Given the description of an element on the screen output the (x, y) to click on. 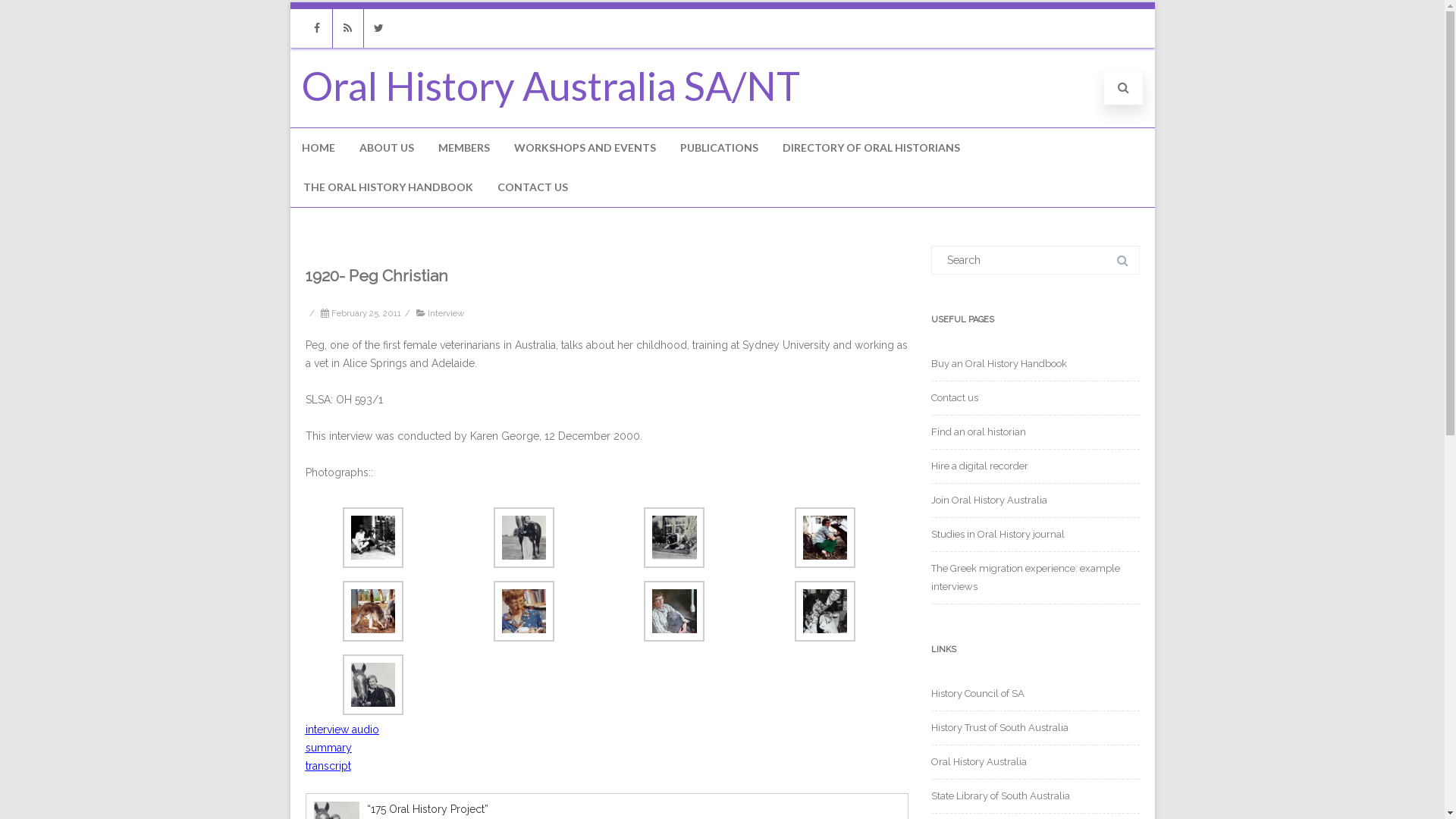
Hire a digital recorder Element type: text (979, 465)
summary Element type: text (327, 747)
Buy an Oral History Handbook Element type: text (998, 363)
History Council of SA Element type: text (977, 693)
History Trust of South Australia Element type: text (999, 727)
MEMBERS Element type: text (463, 147)
transcript Element type: text (327, 765)
Interview Element type: text (445, 312)
Contact us Element type: text (954, 397)
Find an oral historian Element type: text (978, 431)
Oral History Australia SA/NT Element type: text (550, 85)
HOME Element type: text (317, 147)
Twitter Element type: hover (379, 28)
Join Oral History Australia Element type: text (989, 499)
State Library of South Australia Element type: text (1000, 795)
Facebook Element type: hover (316, 28)
PUBLICATIONS Element type: text (718, 147)
THE ORAL HISTORY HANDBOOK Element type: text (387, 187)
The Greek migration experience: example interviews Element type: text (1025, 577)
Oral History Australia Element type: text (978, 761)
ABOUT US Element type: text (385, 147)
Search for: Element type: hover (1035, 259)
DIRECTORY OF ORAL HISTORIANS Element type: text (870, 147)
interview audio Element type: text (341, 729)
RSS Element type: hover (347, 28)
WORKSHOPS AND EVENTS Element type: text (584, 147)
CONTACT US Element type: text (531, 187)
Studies in Oral History journal Element type: text (997, 533)
